Given the description of an element on the screen output the (x, y) to click on. 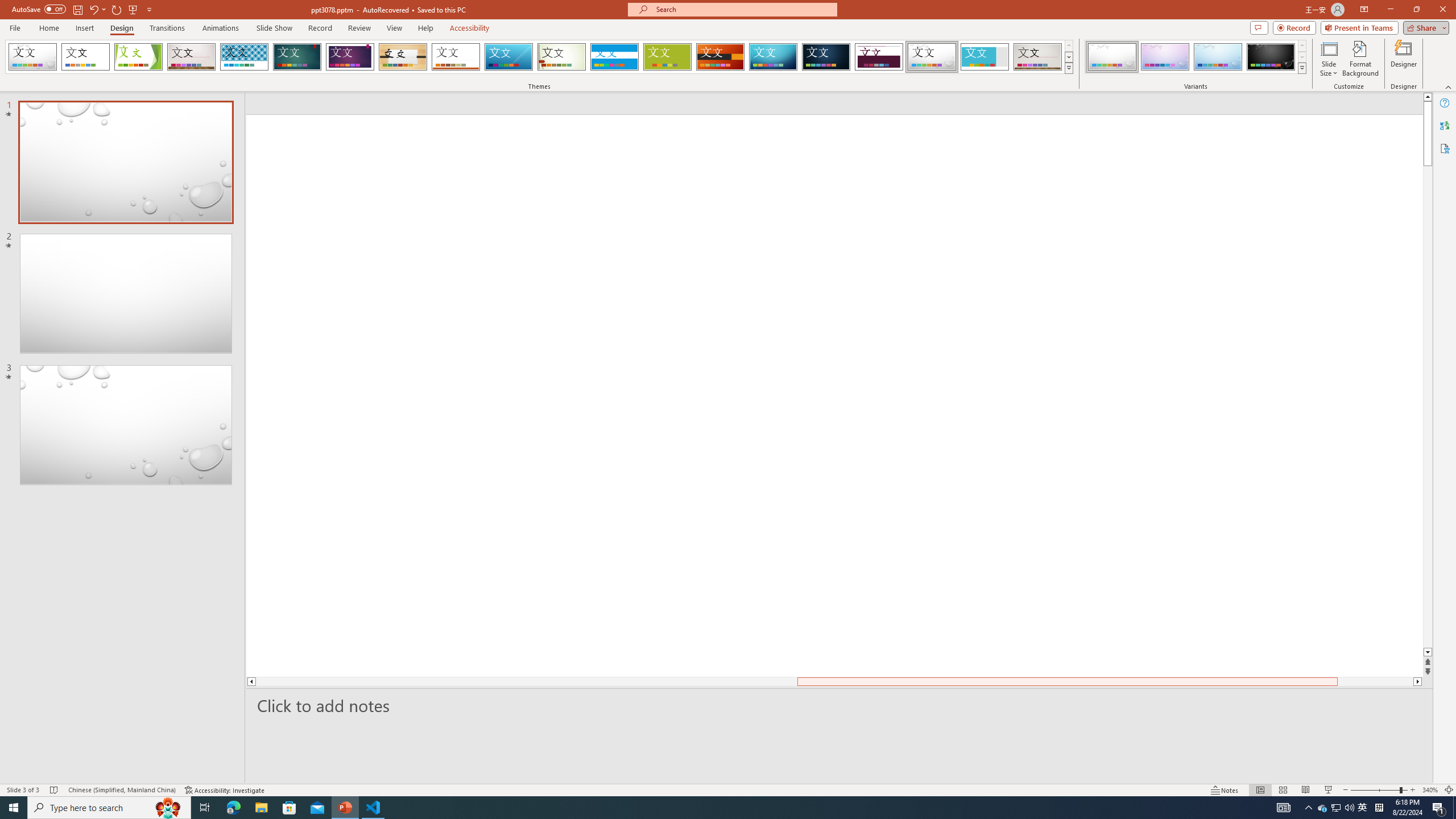
Damask (826, 56)
Droplet Variant 3 (1217, 56)
Ion Boardroom (350, 56)
Themes (1068, 67)
Integral (244, 56)
Banded (614, 56)
Gallery (1037, 56)
